Given the description of an element on the screen output the (x, y) to click on. 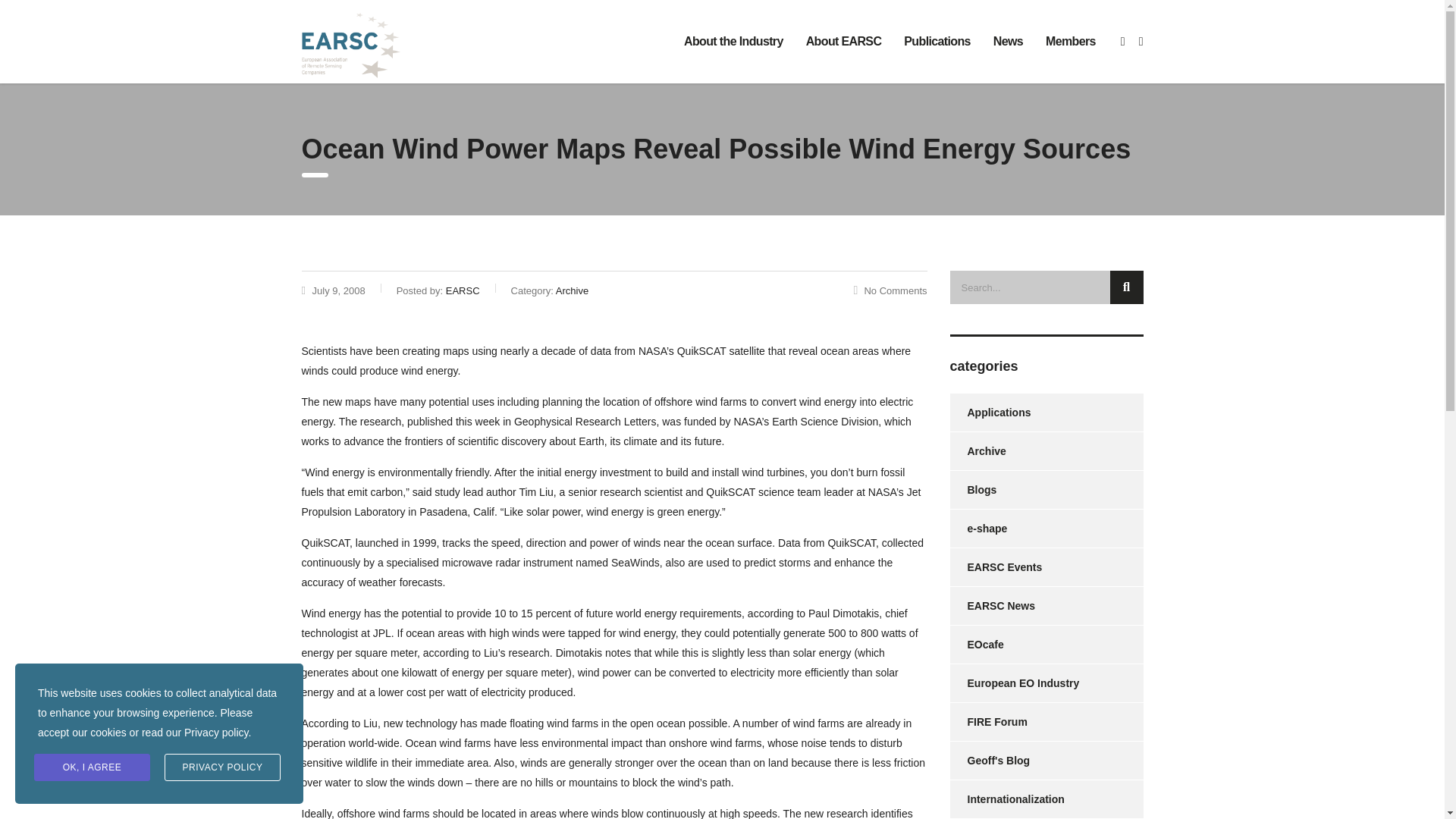
News (1007, 41)
About EARSC (843, 41)
Members (1069, 41)
Publications (936, 41)
About the Industry (733, 41)
